Given the description of an element on the screen output the (x, y) to click on. 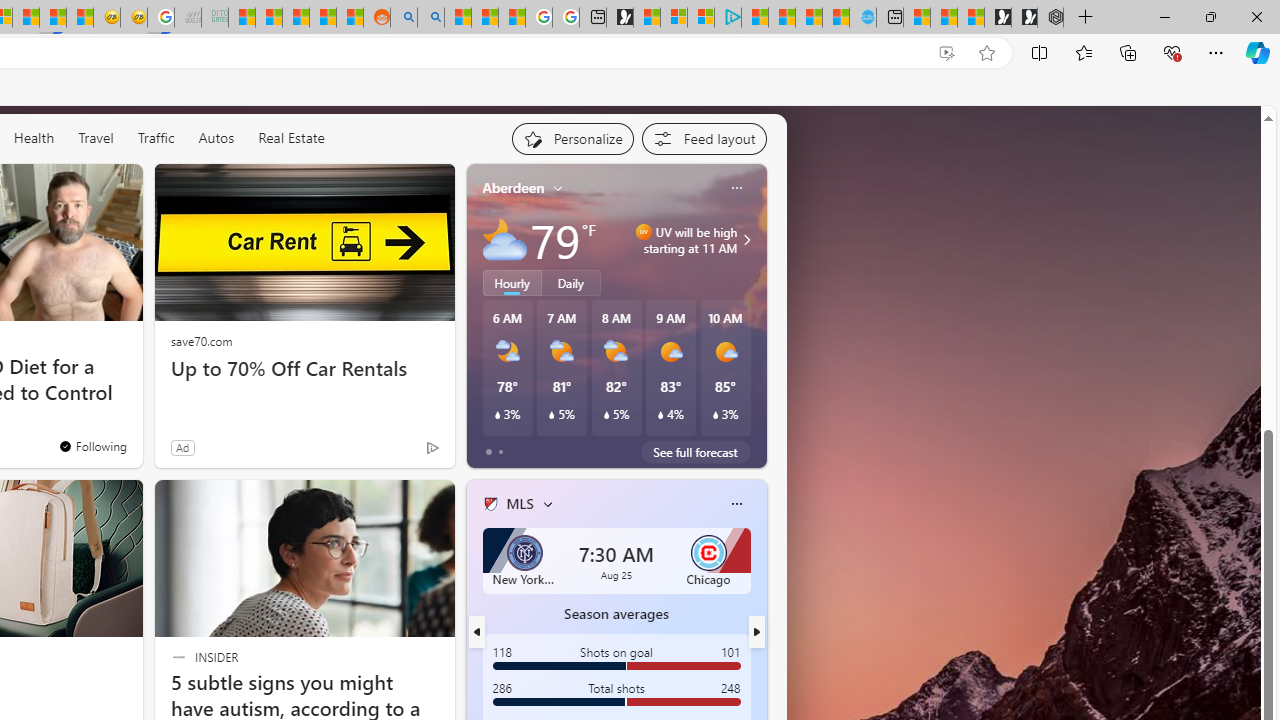
previous (476, 632)
More interests (547, 503)
Mostly cloudy (504, 240)
UV will be high starting at 11 AM (744, 240)
next (756, 632)
